Given the description of an element on the screen output the (x, y) to click on. 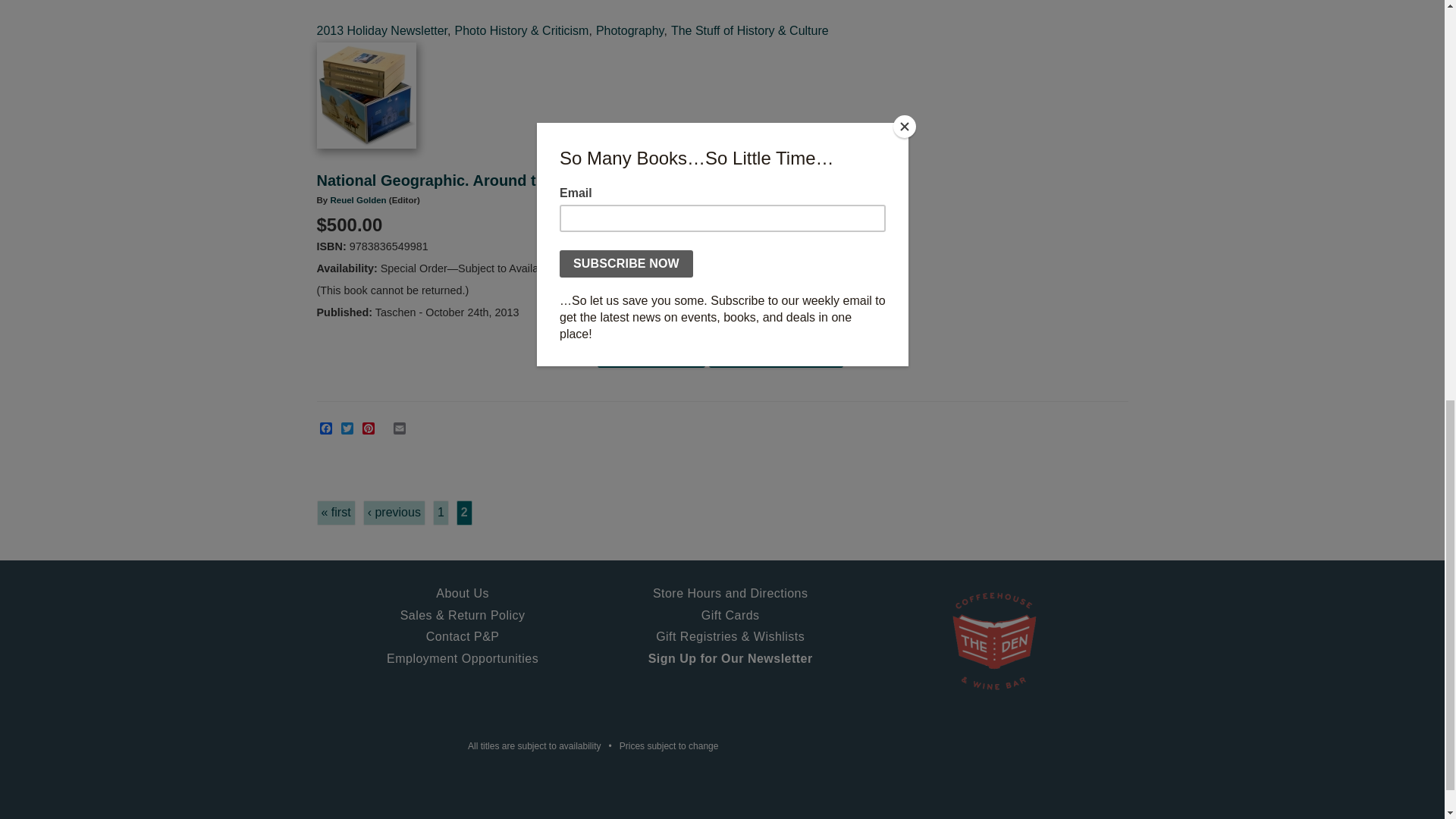
Add to Cart (650, 352)
Add to Wish List (776, 352)
